Given the description of an element on the screen output the (x, y) to click on. 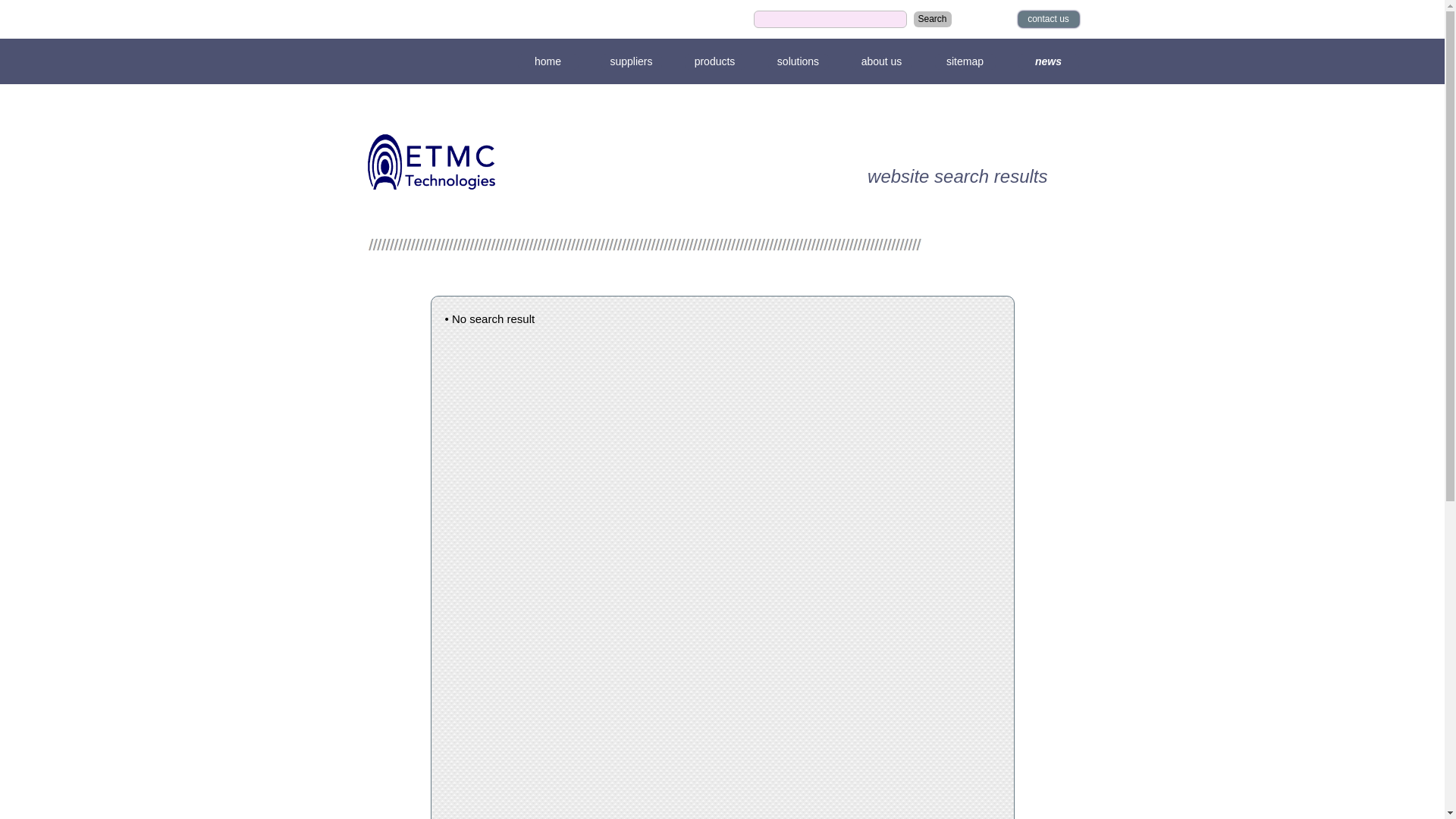
suppliers Element type: text (630, 62)
Search Element type: text (931, 21)
news Element type: text (1047, 62)
sitemap Element type: text (964, 62)
products Element type: text (714, 62)
contact us Element type: text (1047, 21)
about us Element type: text (880, 62)
home Element type: text (547, 62)
solutions Element type: text (797, 62)
